Given the description of an element on the screen output the (x, y) to click on. 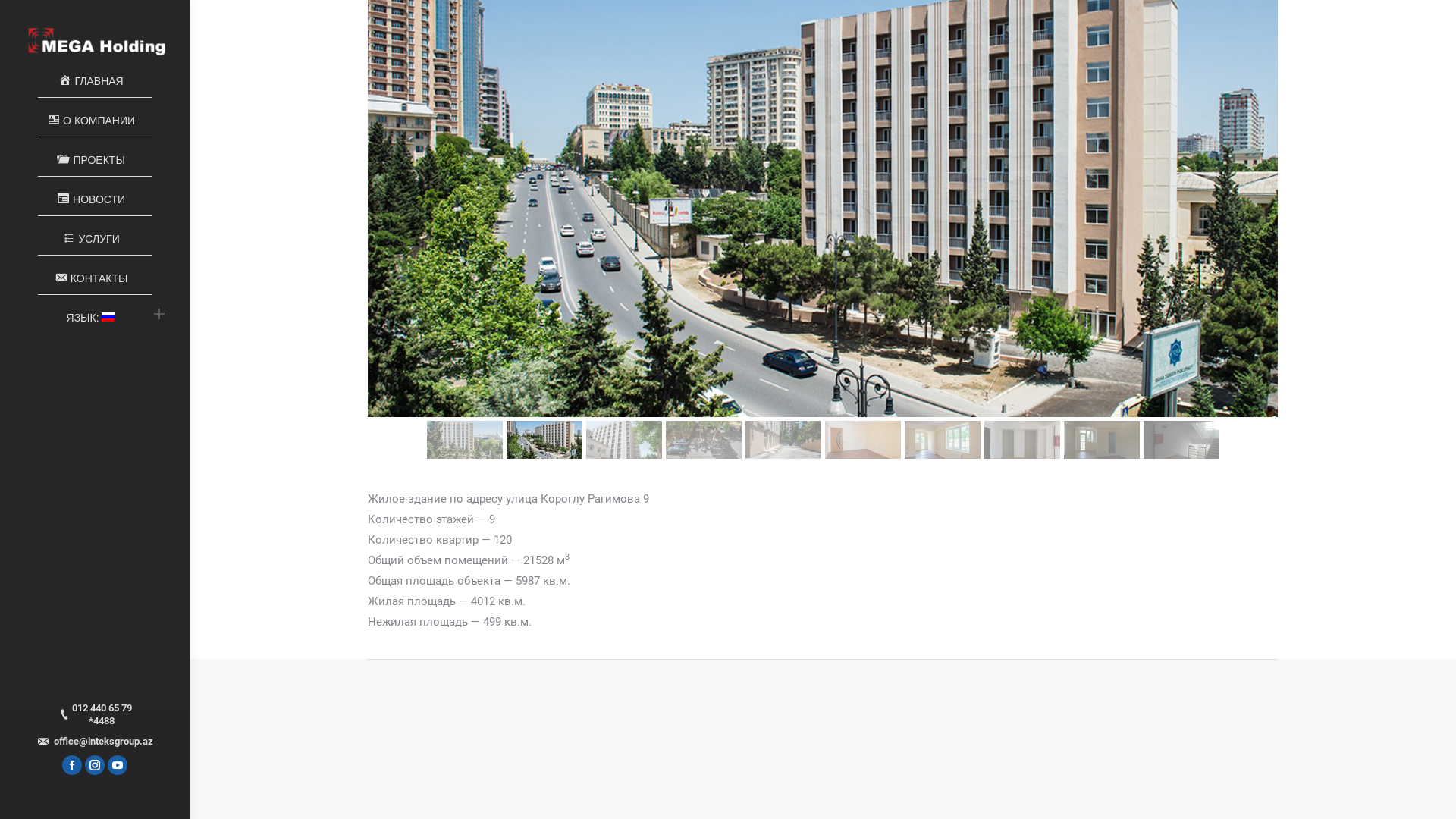
Facebook Element type: text (71, 765)
YouTube Element type: text (117, 765)
Instagram Element type: text (94, 765)
